Given the description of an element on the screen output the (x, y) to click on. 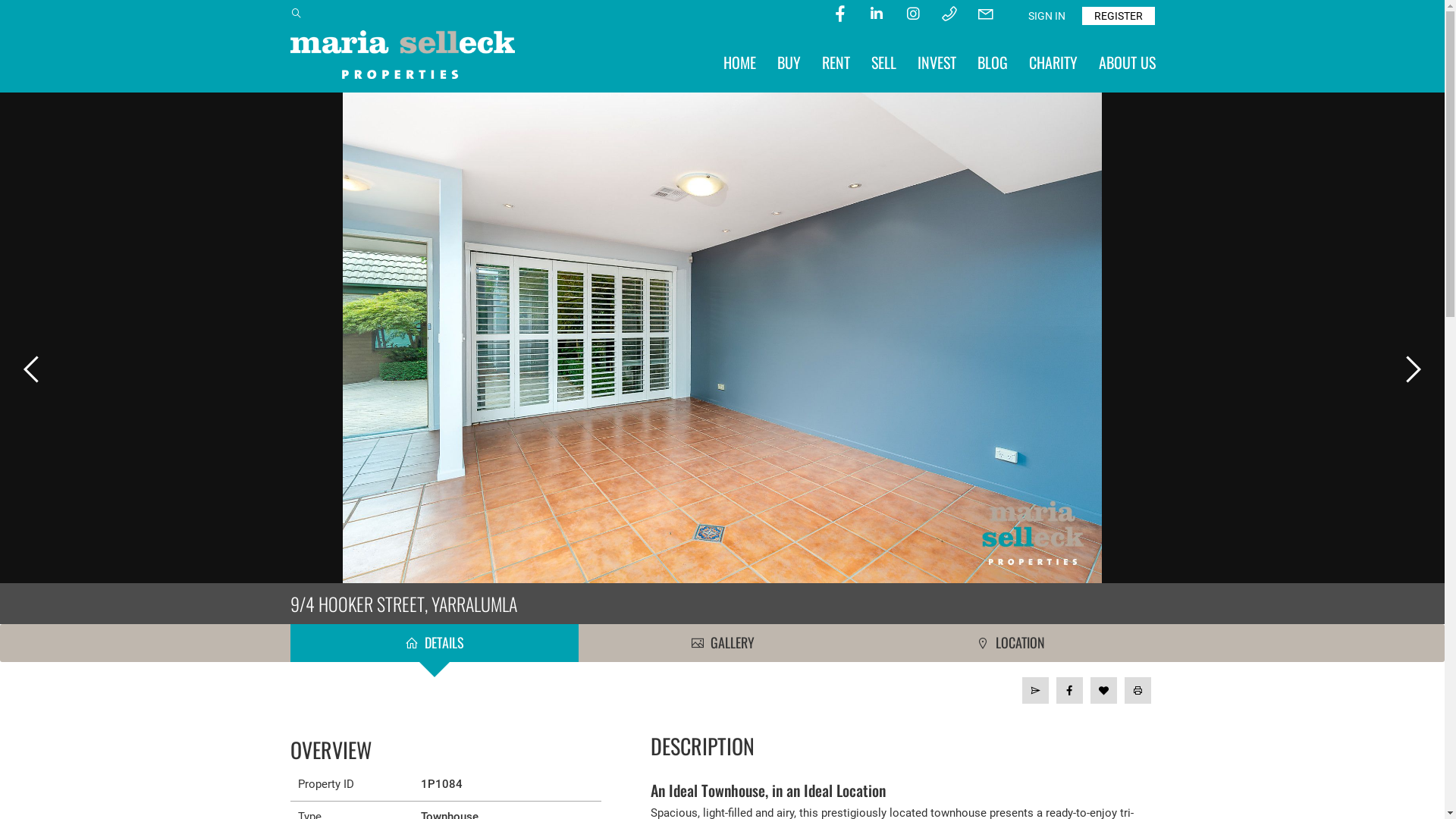
BUY Element type: text (787, 61)
LOCATION Element type: text (1010, 643)
DETAILS Element type: text (433, 643)
RENT Element type: text (835, 61)
INVEST Element type: text (936, 61)
Email to Friend Element type: hover (1035, 690)
ABOUT US Element type: text (1126, 61)
SELL Element type: text (882, 61)
BLOG Element type: text (991, 61)
CHARITY Element type: text (1052, 61)
GALLERY Element type: text (721, 643)
SIGN IN Element type: text (1046, 15)
REGISTER Element type: text (1117, 15)
HOME Element type: text (739, 61)
